Given the description of an element on the screen output the (x, y) to click on. 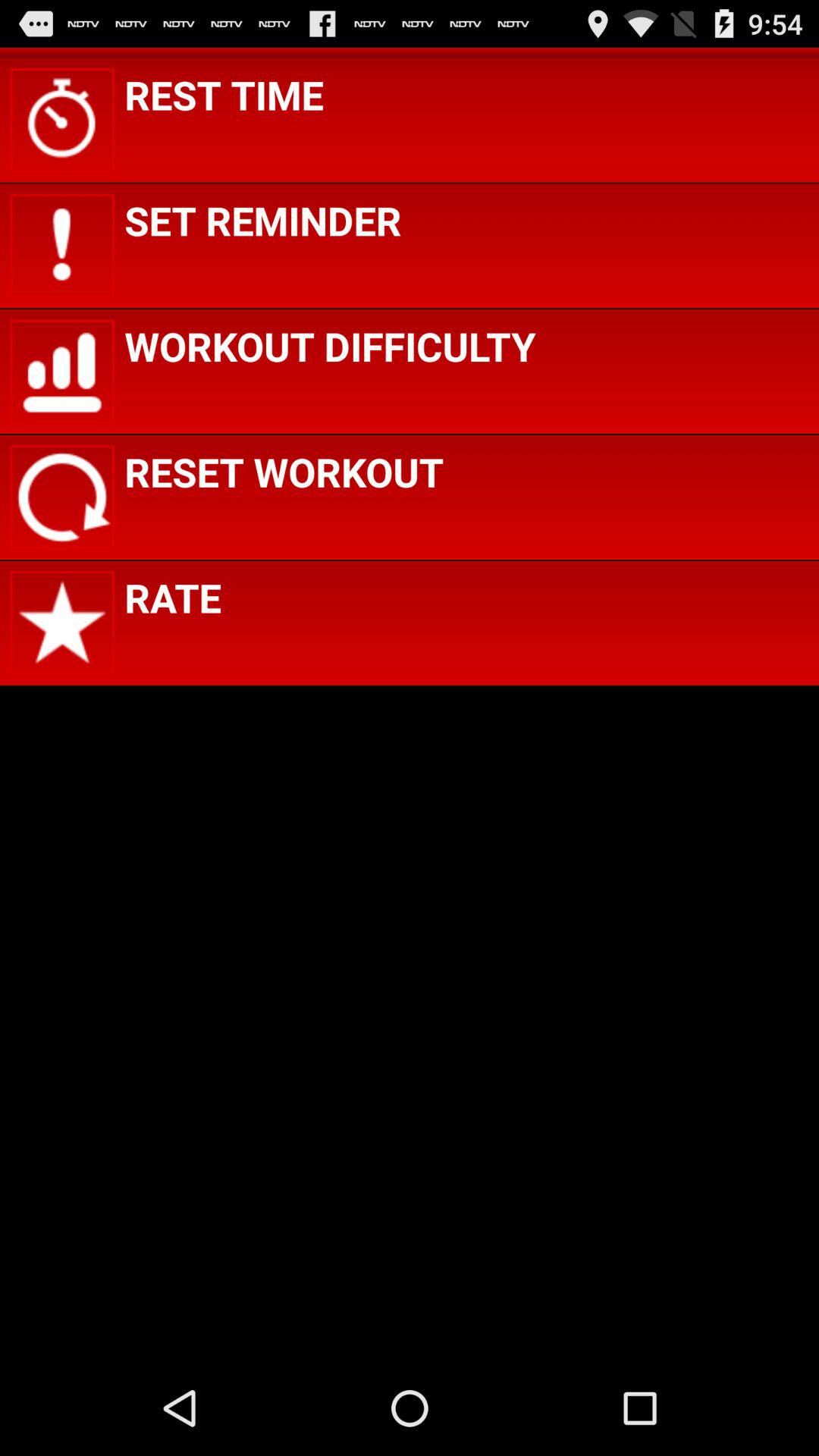
tap the reset workout icon (283, 471)
